Given the description of an element on the screen output the (x, y) to click on. 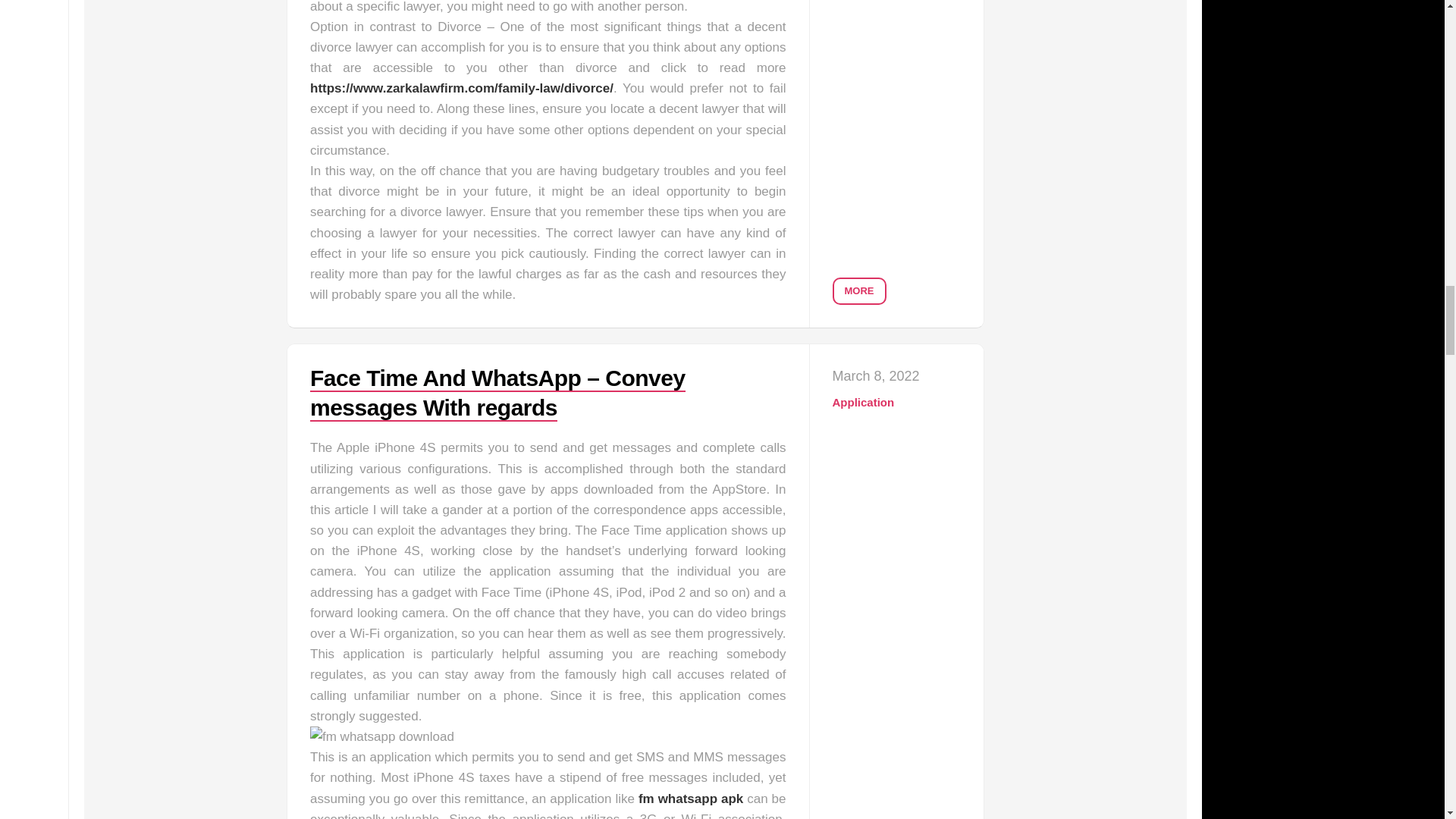
MORE (859, 291)
Application (863, 401)
fm whatsapp apk (690, 798)
